Given the description of an element on the screen output the (x, y) to click on. 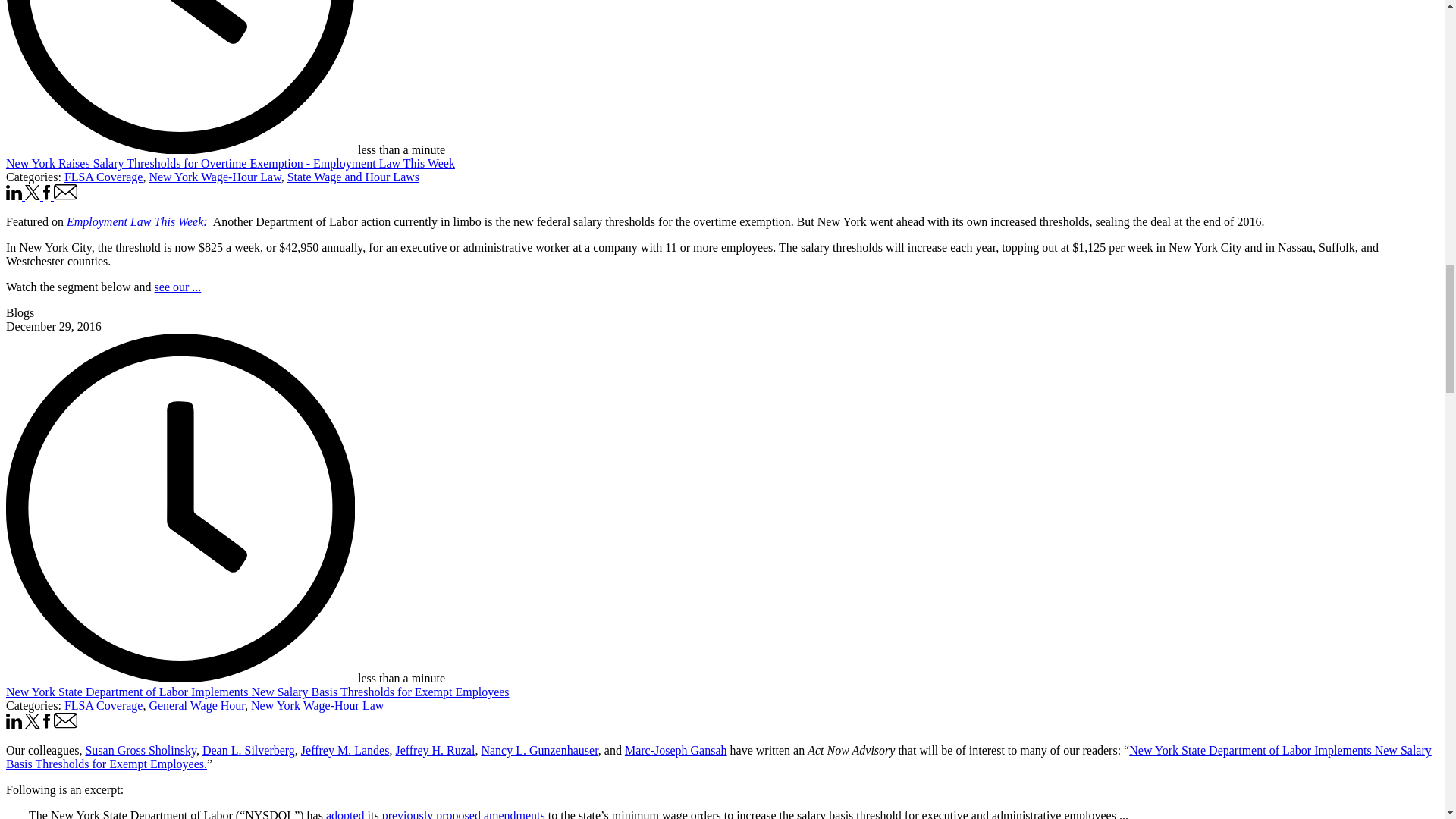
FLSA Coverage (103, 705)
Email (65, 195)
State Wage and Hour Laws (352, 176)
New York Wage-Hour Law (214, 176)
Linkedin (13, 192)
Linkedin (13, 720)
Clock (180, 76)
Linkedin (14, 195)
Twitter (32, 192)
see our ... (178, 286)
